Given the description of an element on the screen output the (x, y) to click on. 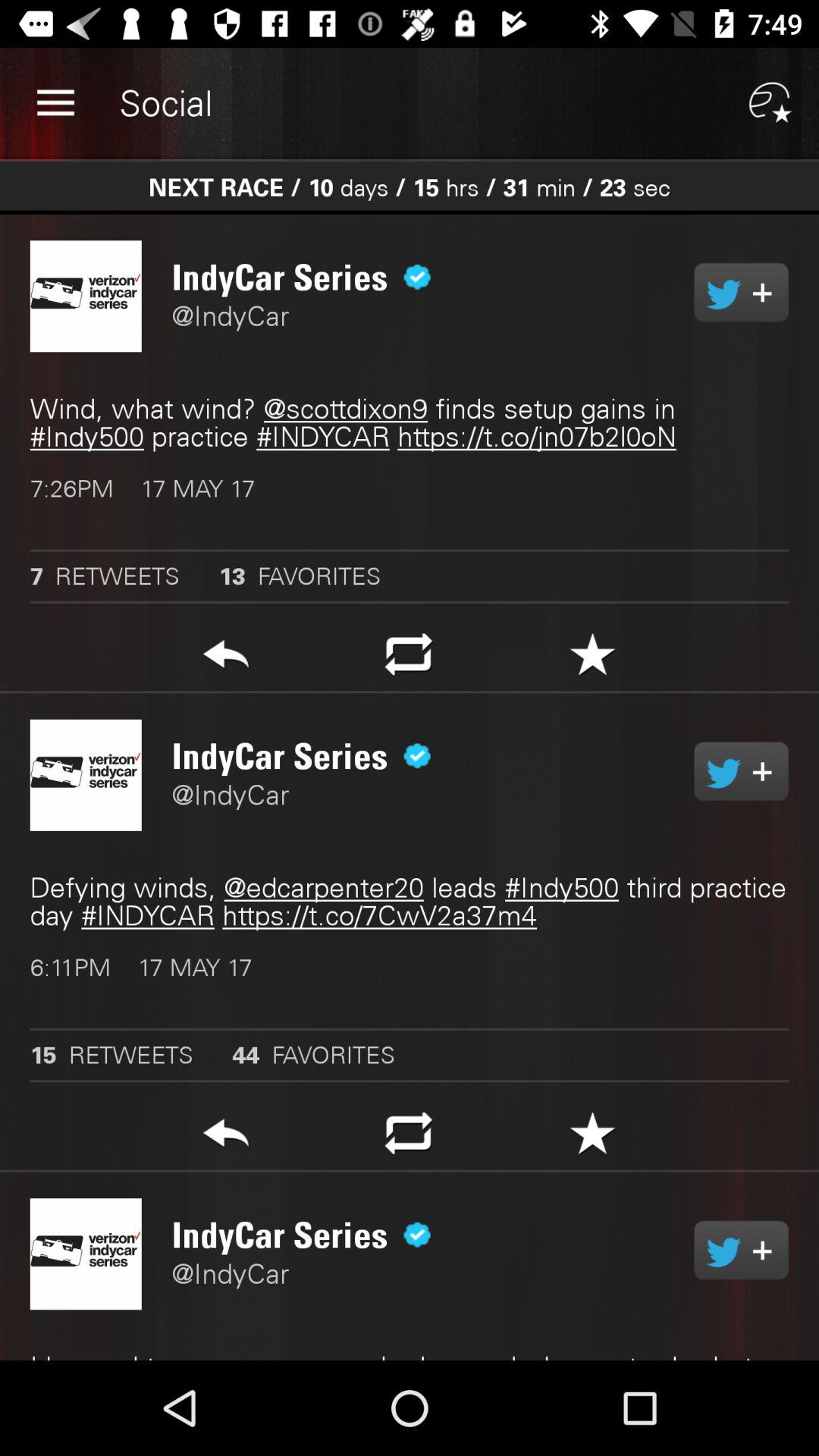
star tweet from may 17 2017 (592, 658)
